Given the description of an element on the screen output the (x, y) to click on. 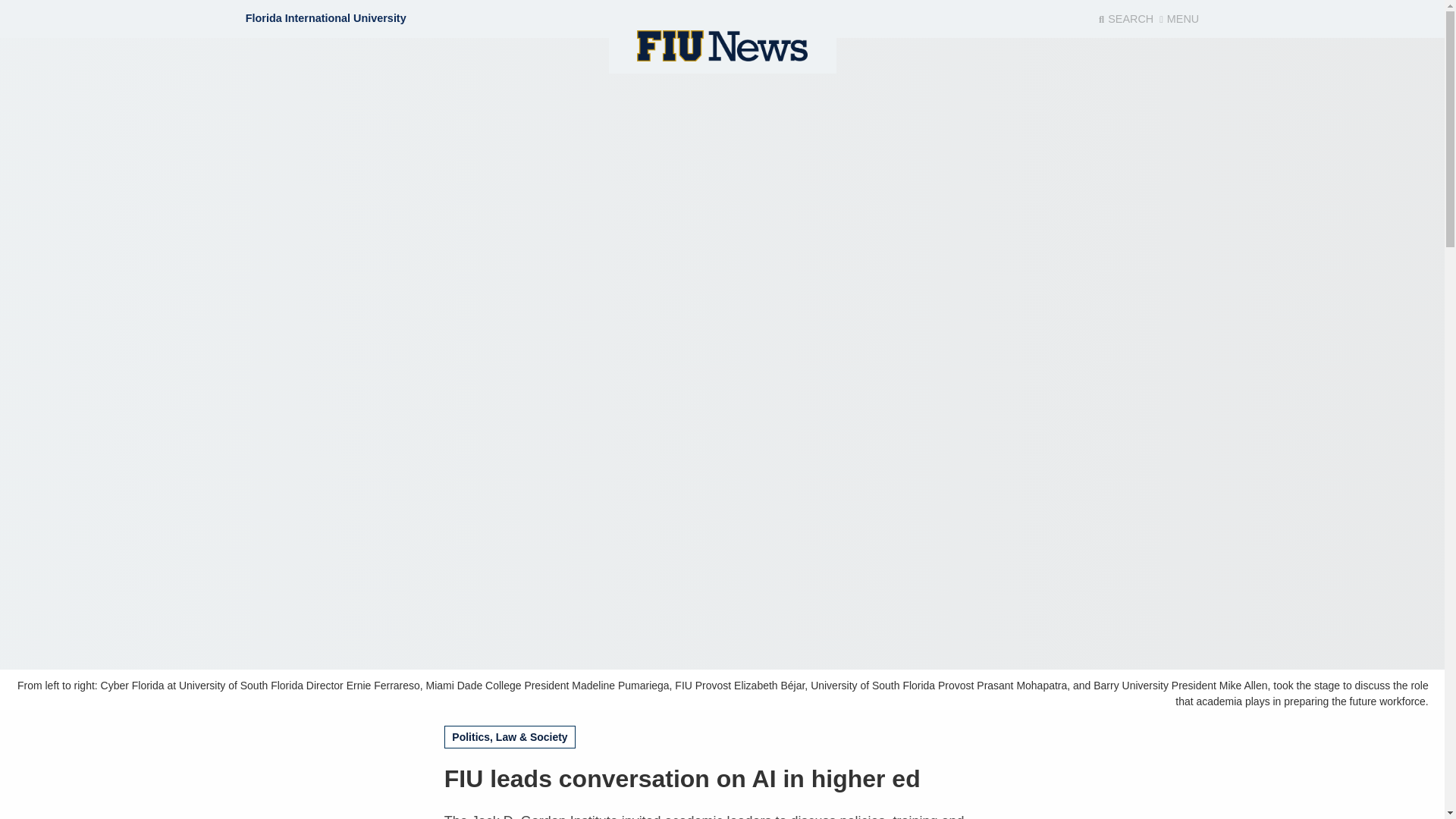
SEARCH (1125, 19)
Florida International University (326, 18)
MENU (1178, 19)
